Given the description of an element on the screen output the (x, y) to click on. 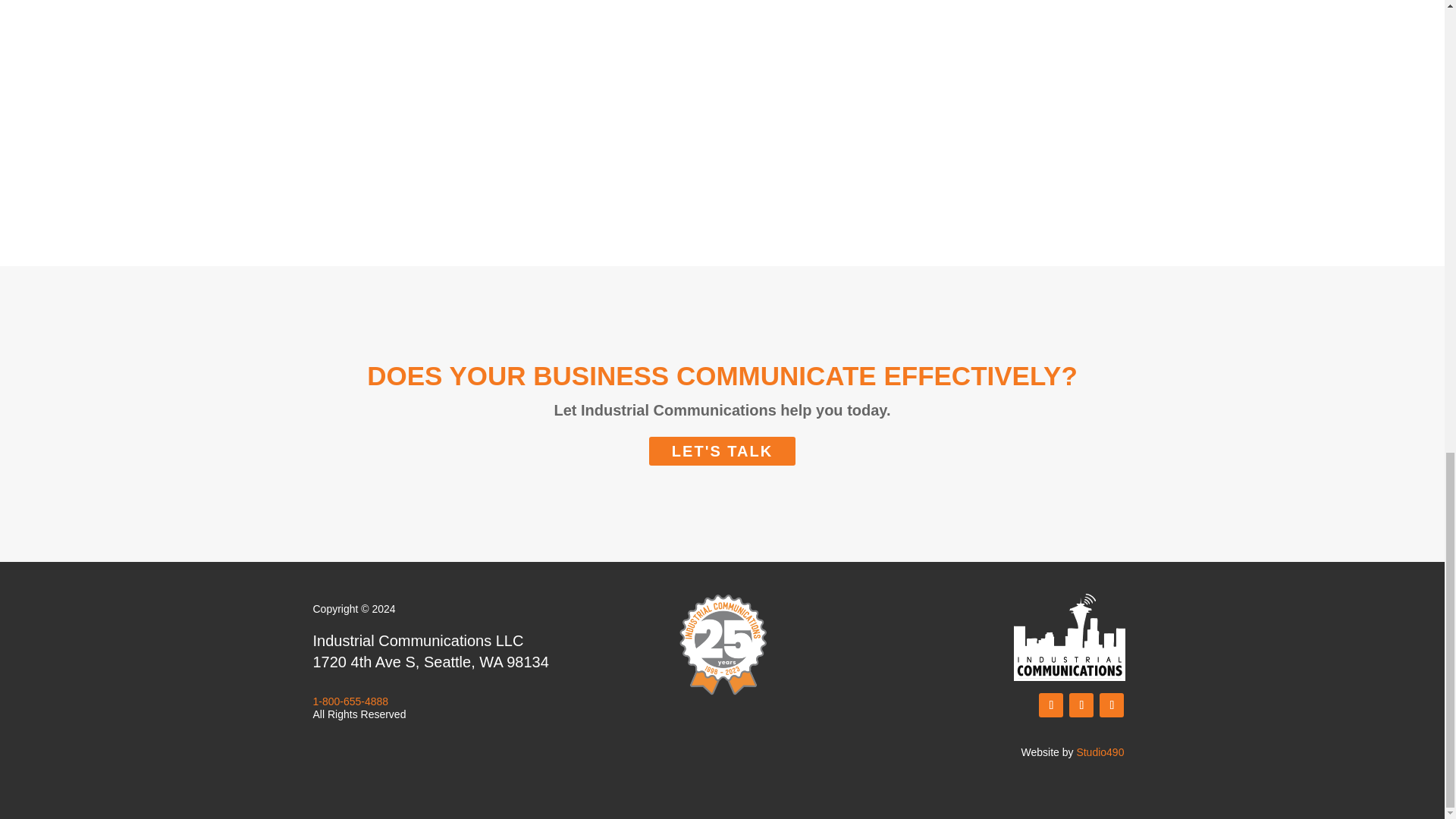
Follow on X (1080, 704)
Follow on LinkedIn (1111, 704)
Follow on Facebook (1050, 704)
ICSeal2022 (721, 645)
